Given the description of an element on the screen output the (x, y) to click on. 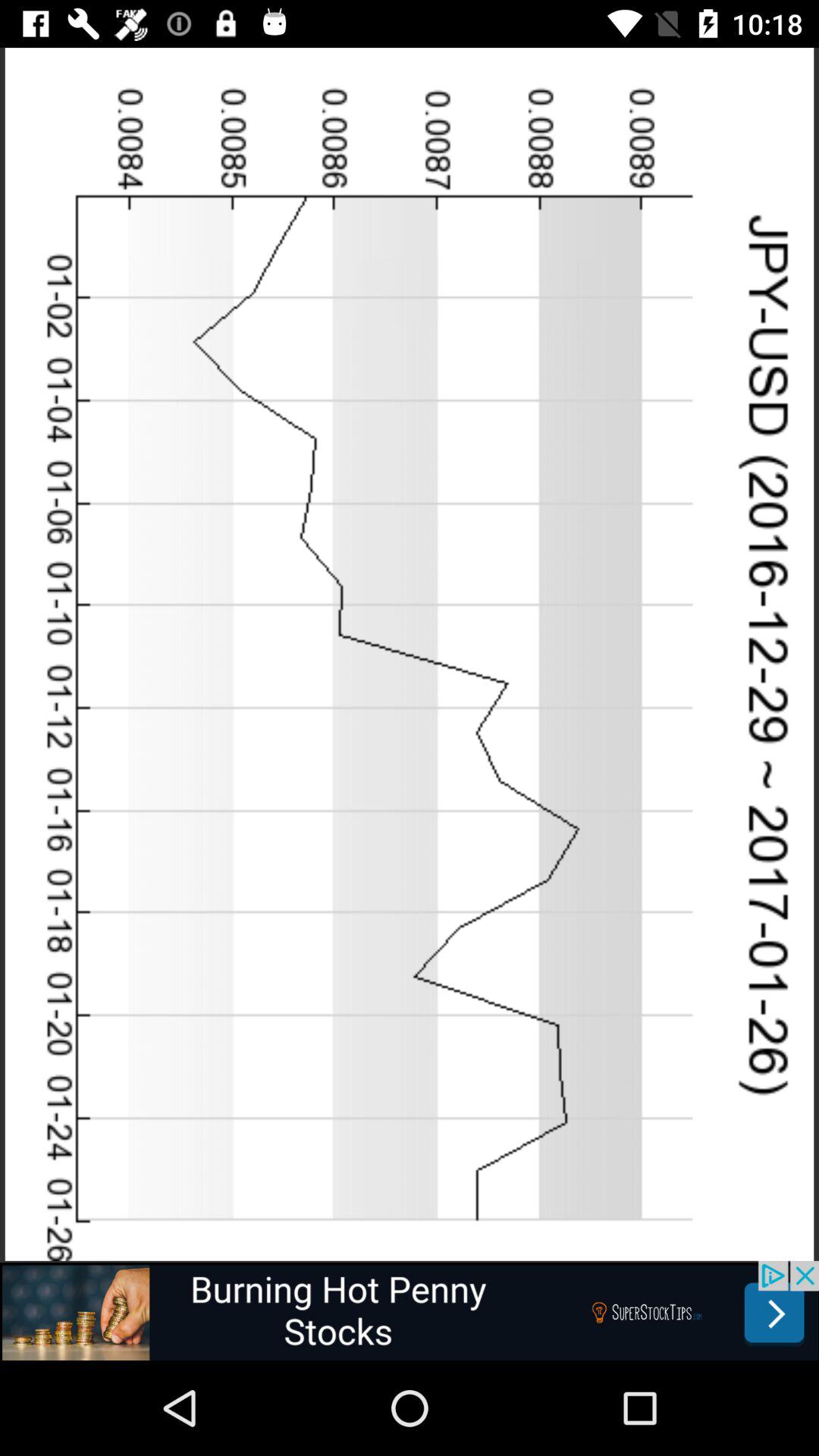
goes to advertiser 's website (409, 1310)
